Given the description of an element on the screen output the (x, y) to click on. 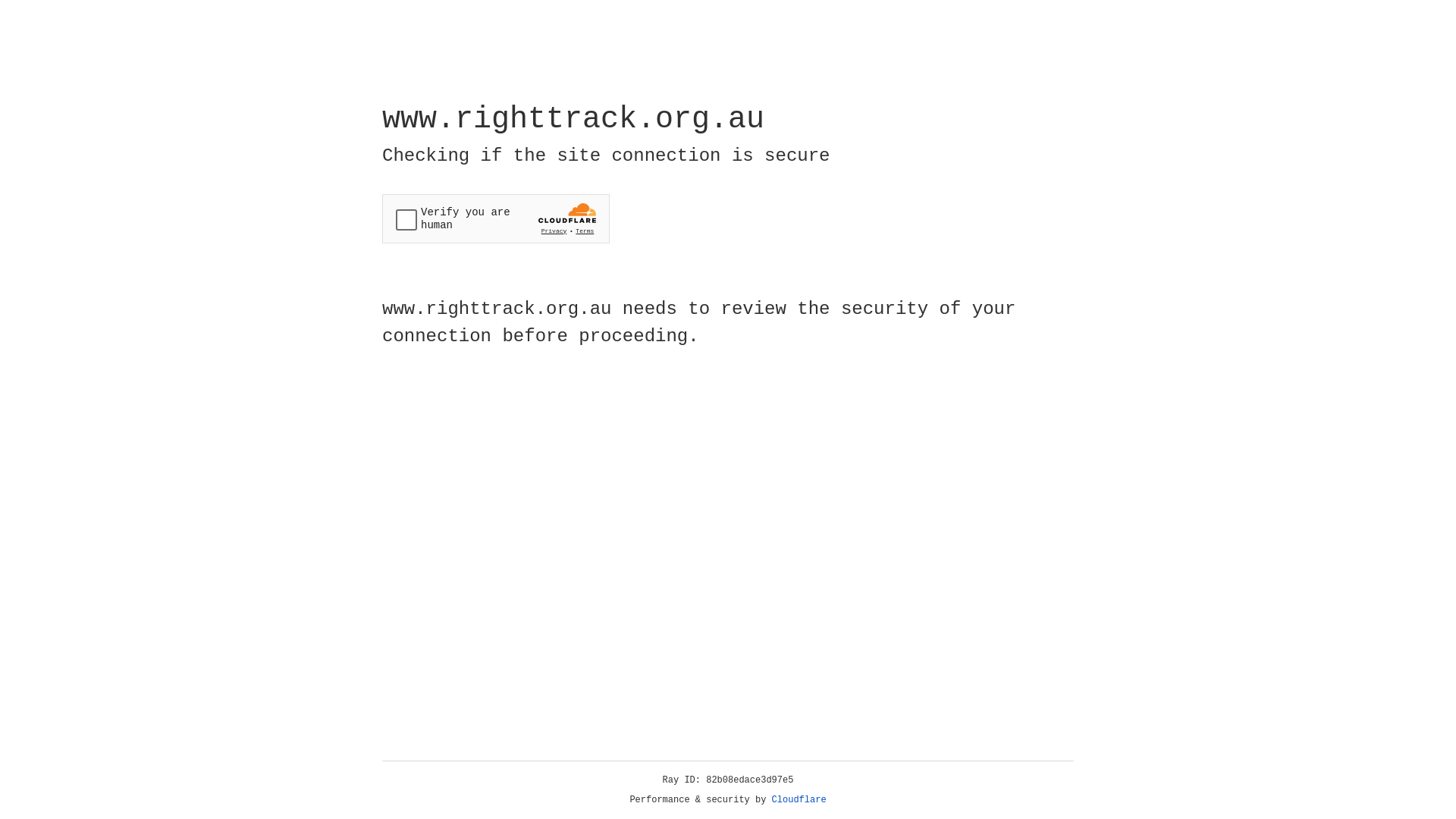
Widget containing a Cloudflare security challenge Element type: hover (495, 218)
Cloudflare Element type: text (798, 799)
